Given the description of an element on the screen output the (x, y) to click on. 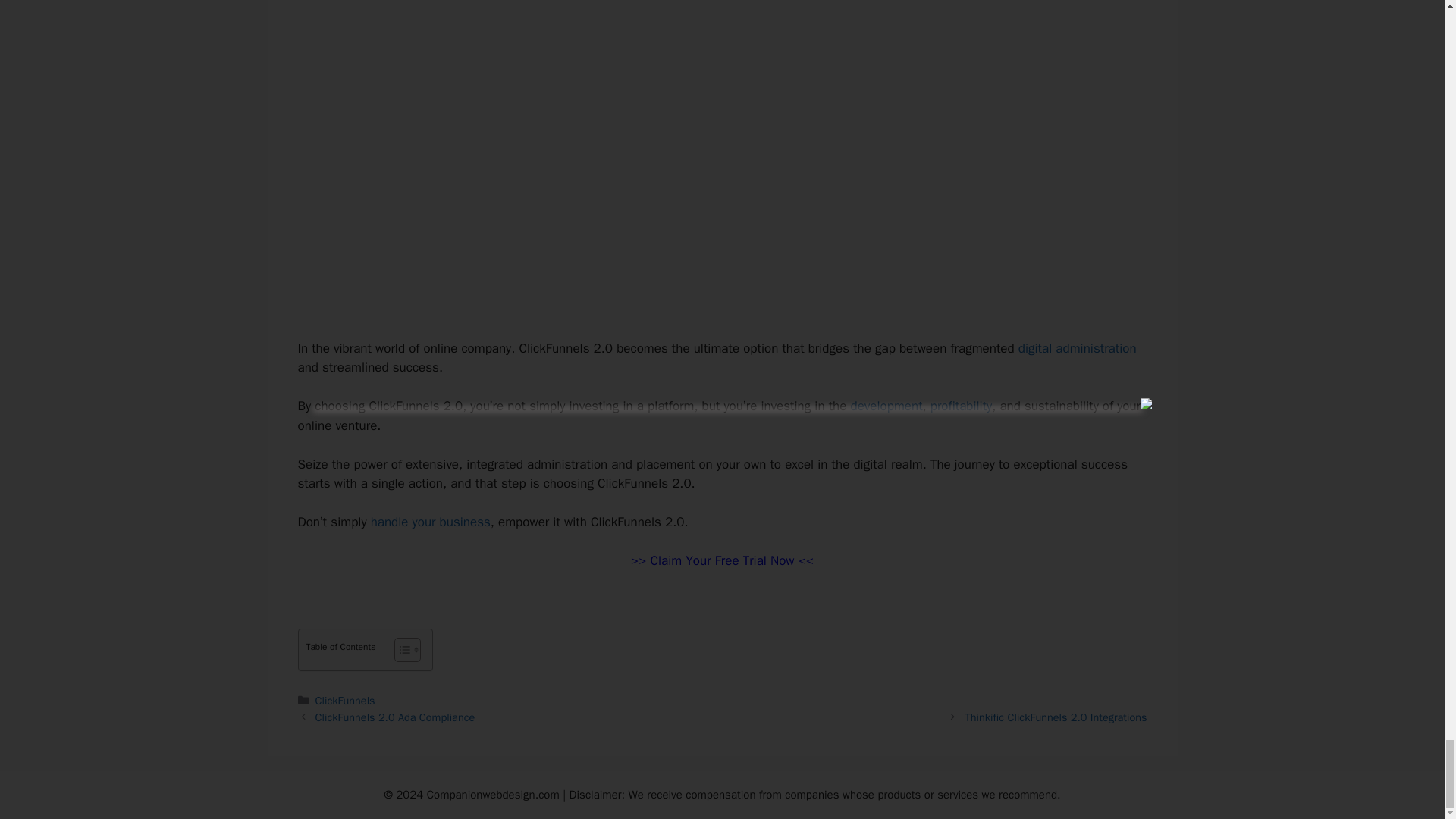
profitability (960, 406)
handle your business (430, 521)
development (886, 406)
digital administration (1077, 348)
